Given the description of an element on the screen output the (x, y) to click on. 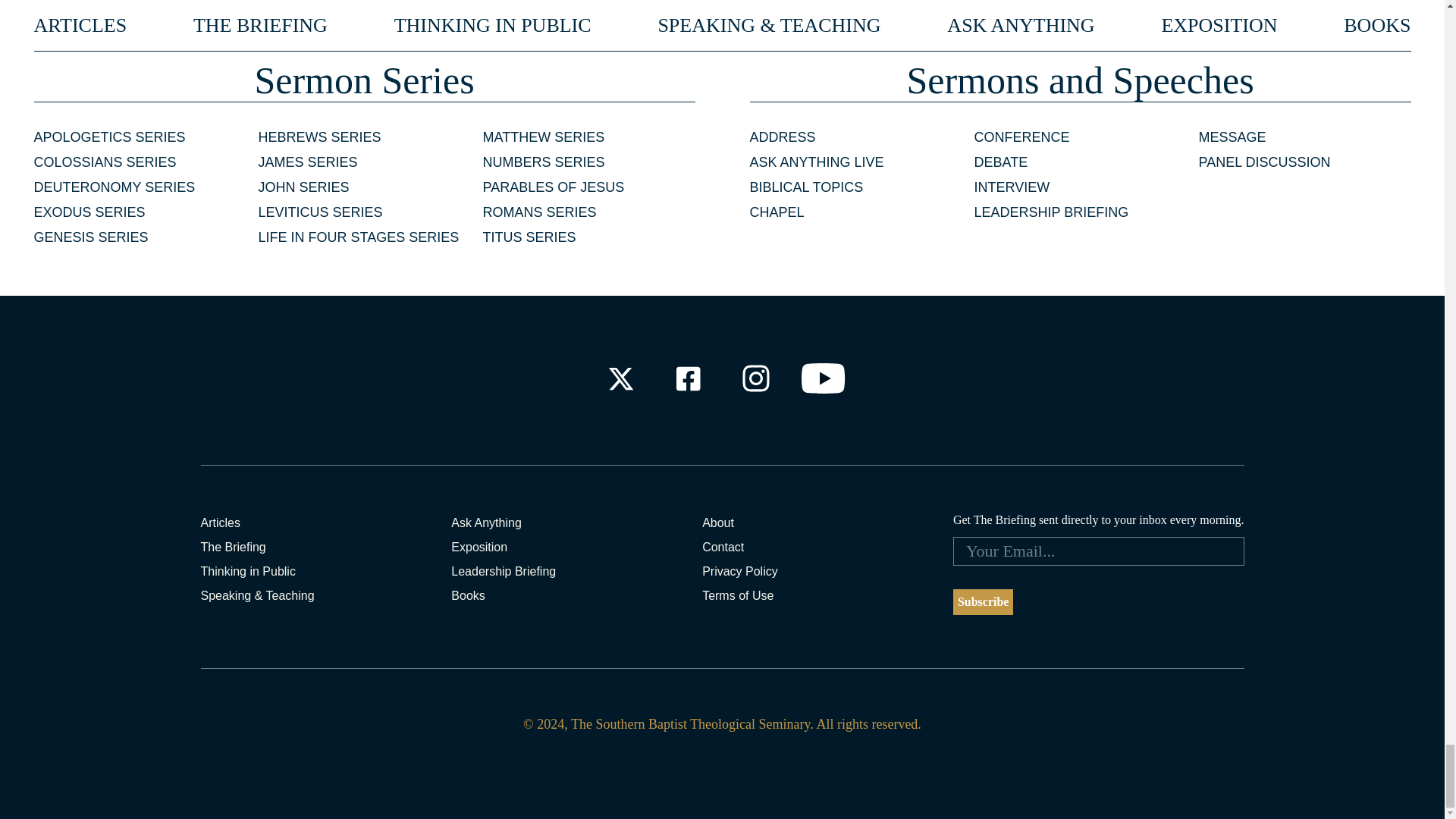
Check out our X Profile (620, 378)
Subscribe (983, 601)
Check out our Facebook Profile (687, 378)
Check out our Instagram Profile (755, 378)
Check out our Youtube Channel (822, 378)
